Given the description of an element on the screen output the (x, y) to click on. 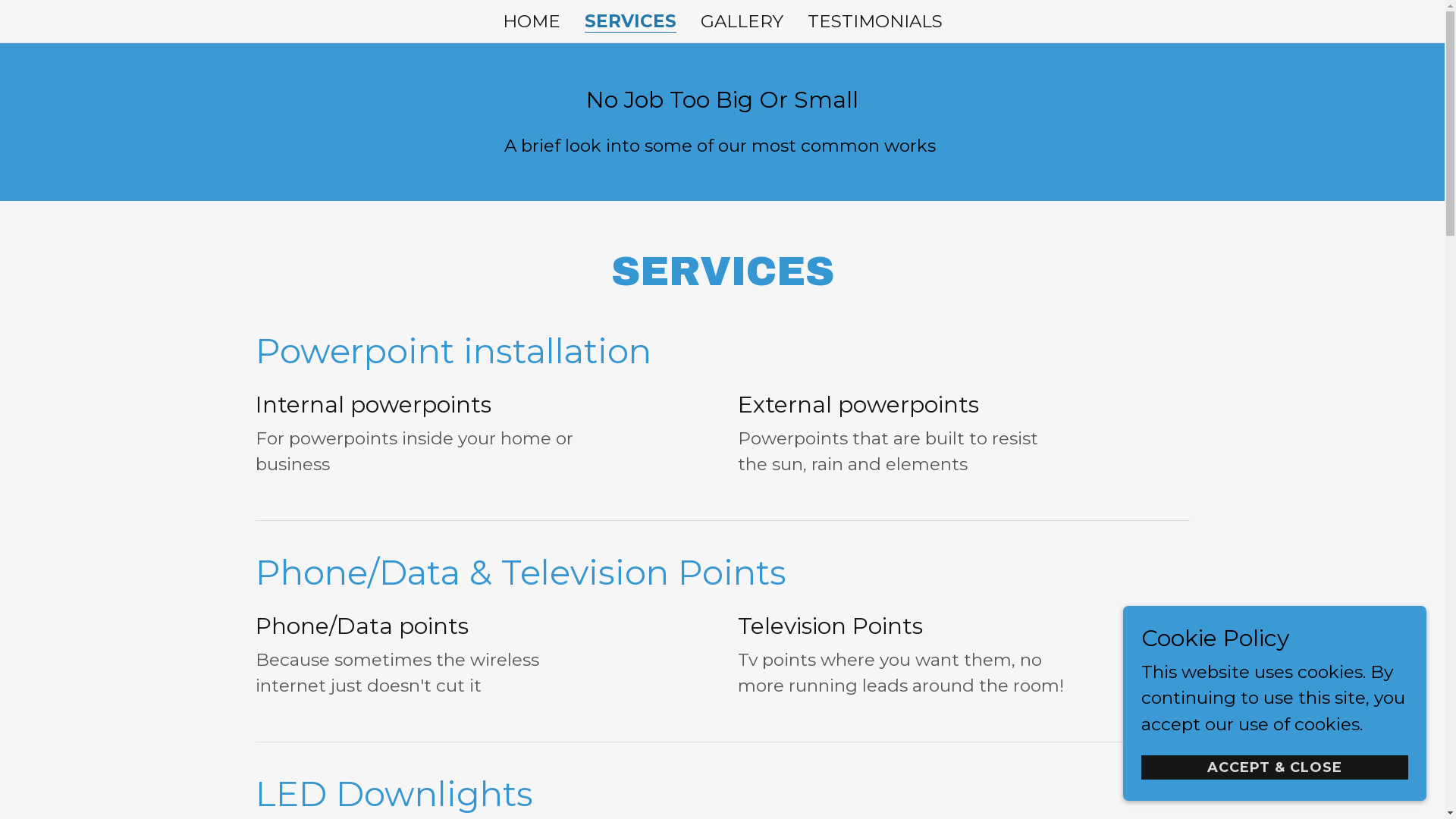
HOME Element type: text (530, 20)
SERVICES Element type: text (629, 22)
TESTIMONIALS Element type: text (874, 20)
GALLERY Element type: text (741, 20)
ACCEPT & CLOSE Element type: text (1274, 767)
